Given the description of an element on the screen output the (x, y) to click on. 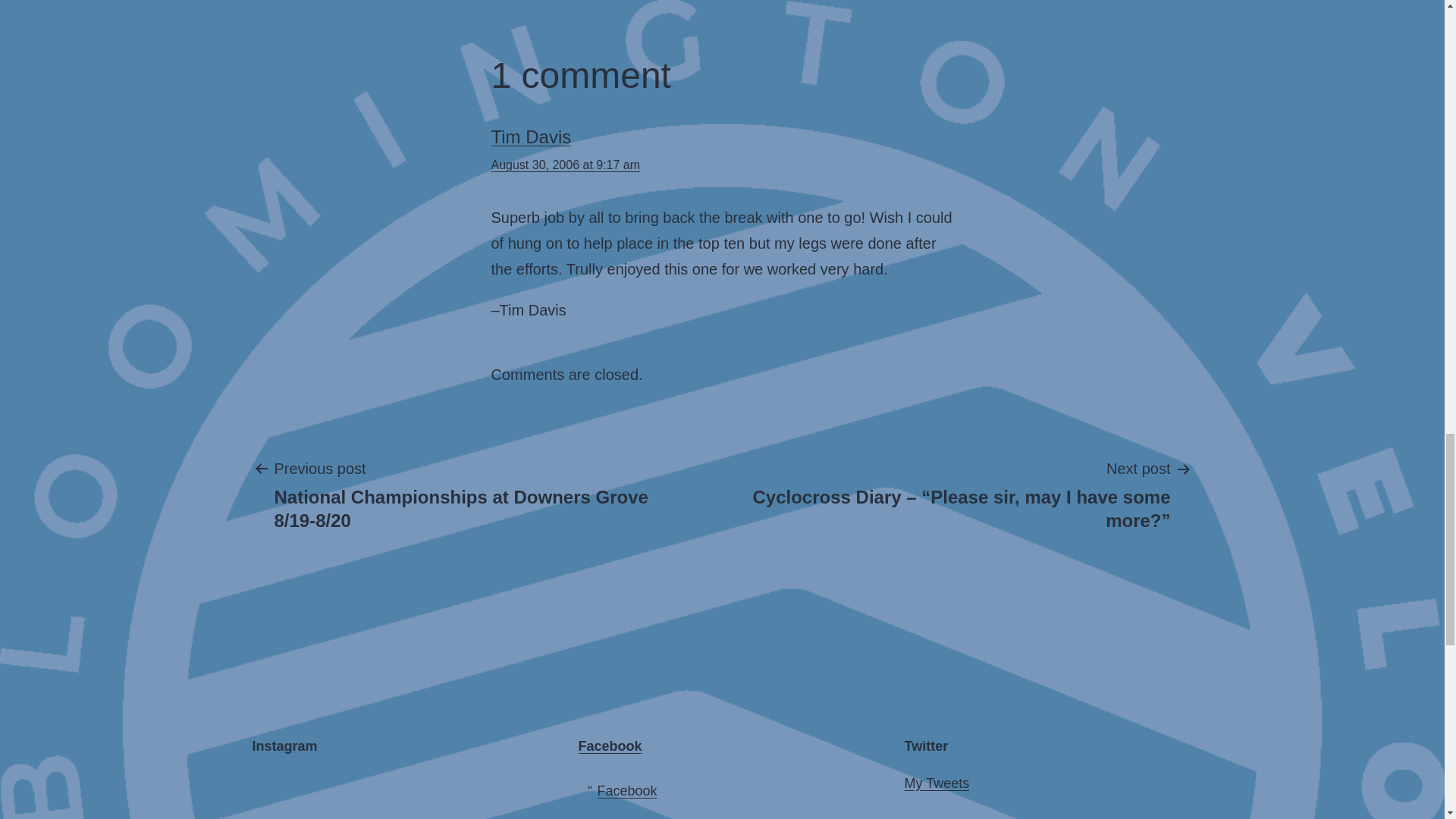
Tim Davis (532, 136)
Facebook (610, 745)
My Tweets (936, 783)
9AM at the Gates, Saturday, June 8, slight chance of rain (322, 795)
August 30, 2006 at 9:17 am (566, 164)
Facebook (627, 790)
